Given the description of an element on the screen output the (x, y) to click on. 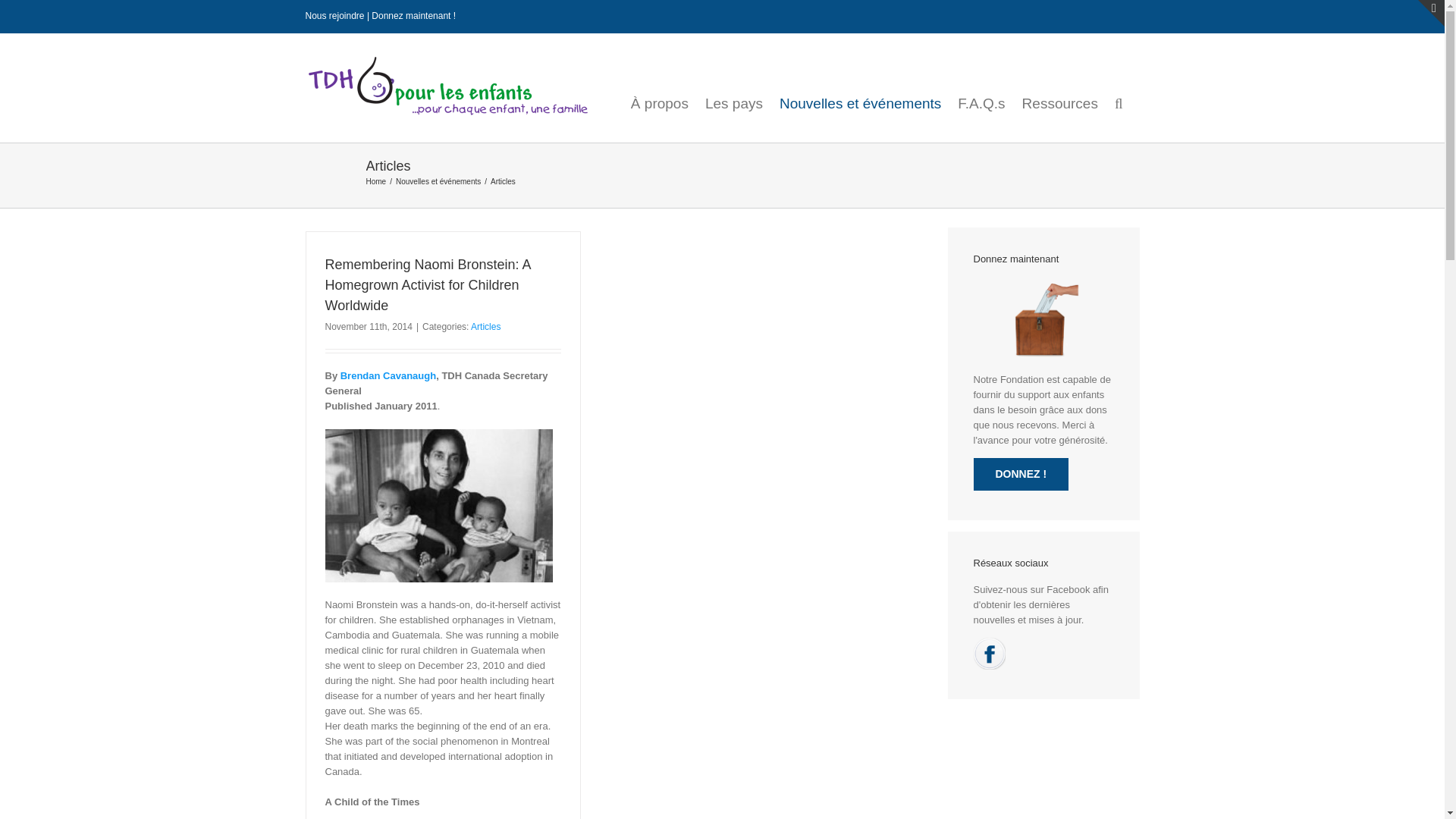
Brendan Cavanaugh (387, 375)
Ressources (1059, 92)
Donnez maintenant ! (413, 15)
DONNEZ ! (1021, 473)
Home (375, 181)
Les pays (733, 92)
Nous rejoindre (334, 15)
Articles (485, 326)
